Given the description of an element on the screen output the (x, y) to click on. 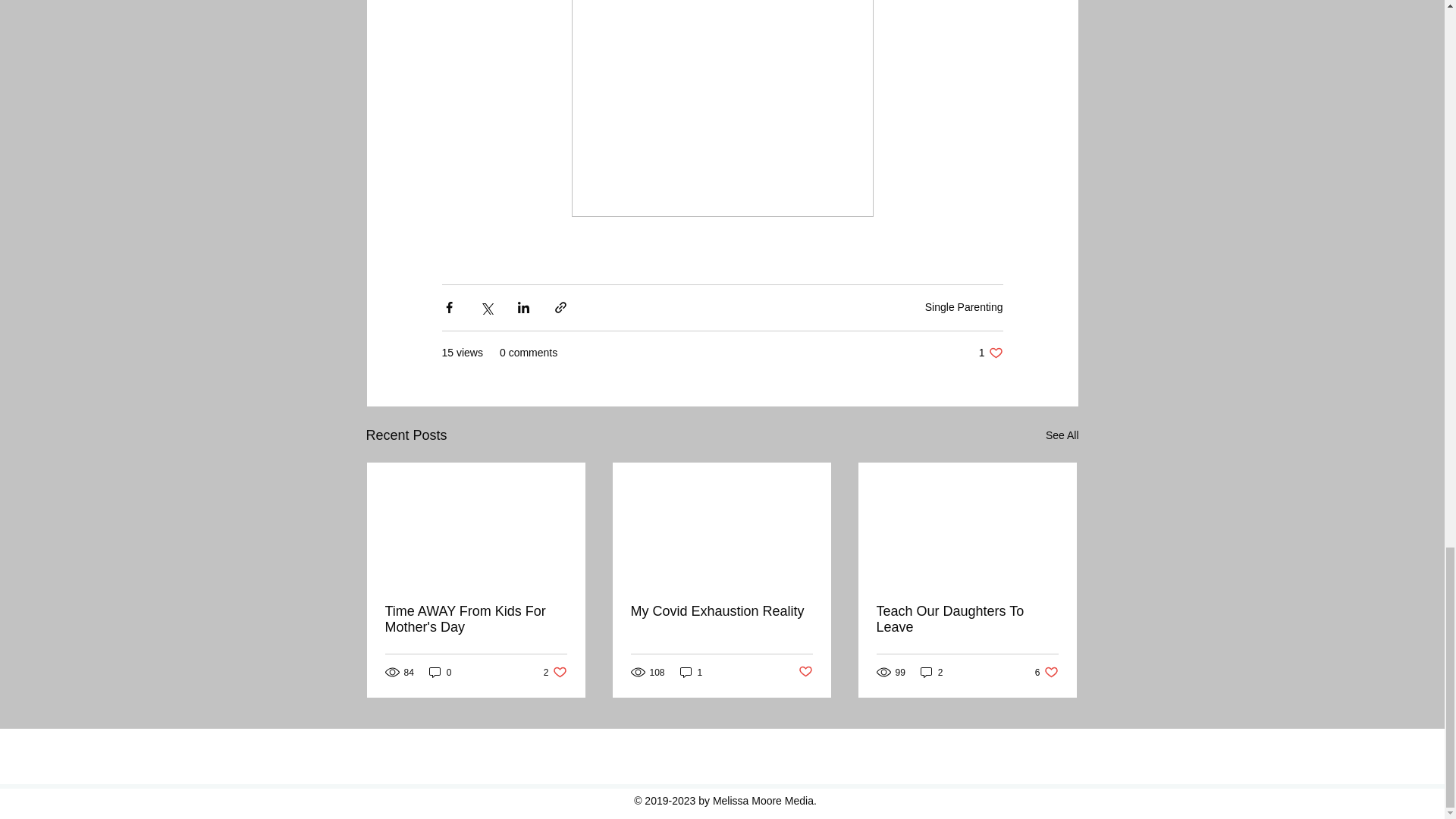
Single Parenting (963, 306)
Time AWAY From Kids For Mother's Day (476, 619)
0 (1046, 672)
Teach Our Daughters To Leave (555, 672)
See All (440, 672)
2 (967, 619)
My Covid Exhaustion Reality (1061, 435)
1 (990, 352)
Post not marked as liked (931, 672)
